Given the description of an element on the screen output the (x, y) to click on. 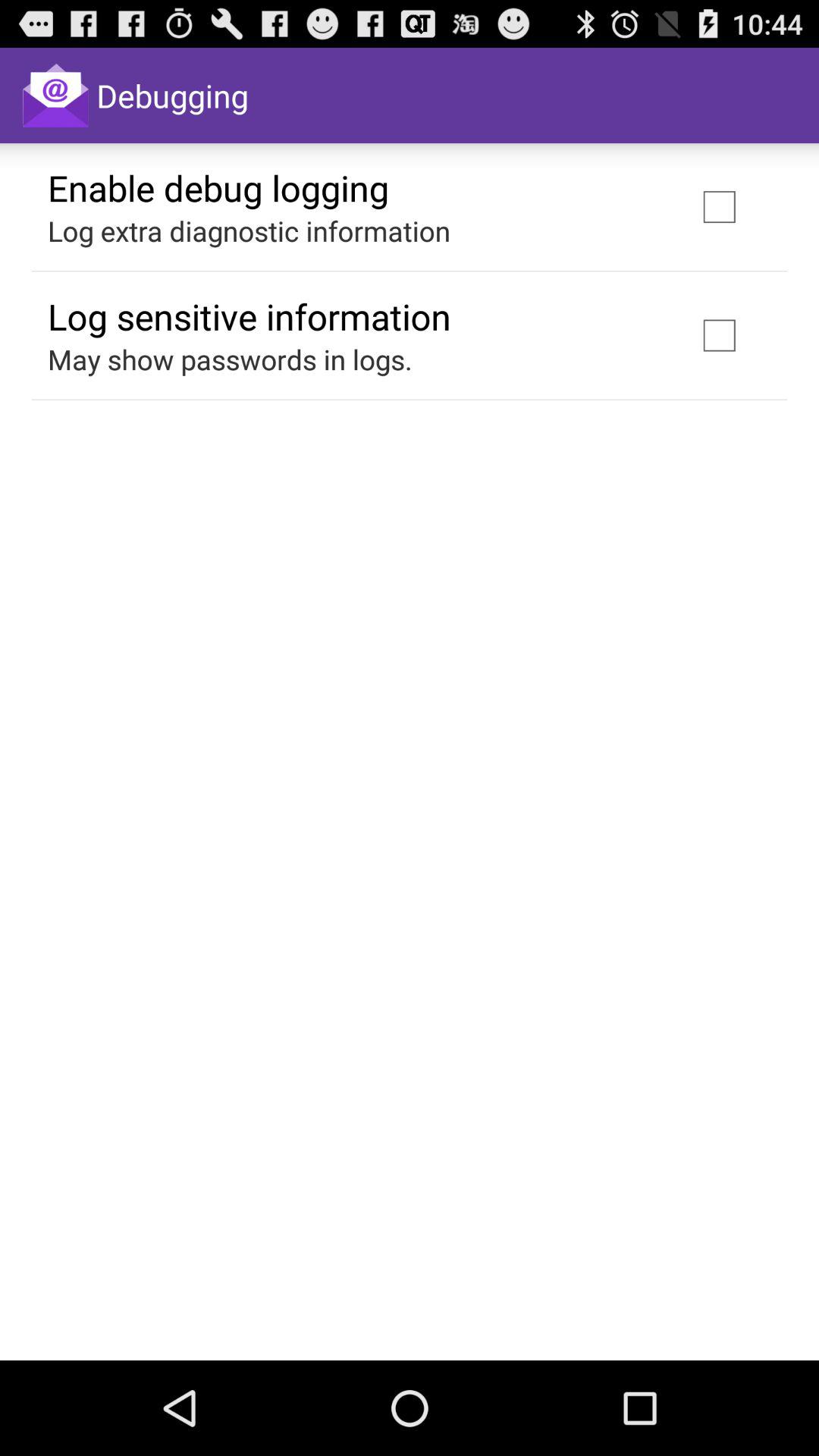
press the item above the log sensitive information icon (248, 230)
